Given the description of an element on the screen output the (x, y) to click on. 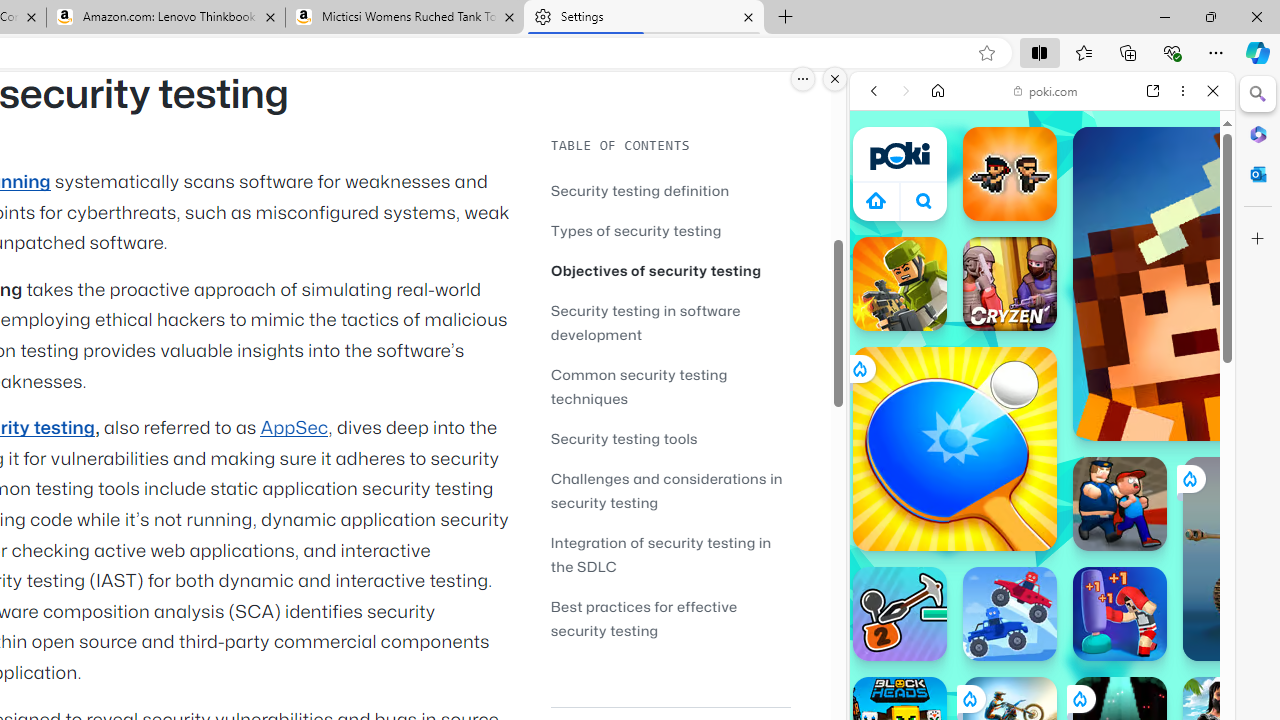
Class: rCs5cyEiqiTpYvt_VBCR (1079, 698)
Common security testing techniques (639, 385)
Battle Wheels (1009, 613)
Ping Pong Go! (954, 448)
Show More Shooting Games (1164, 521)
Security testing definition (670, 190)
Stickman Climb 2 Stickman Climb 2 (899, 613)
Io Games (1042, 616)
Objectives of security testing (655, 270)
Show More Two Player Games (1164, 570)
Kour.io Kour.io (899, 283)
